Given the description of an element on the screen output the (x, y) to click on. 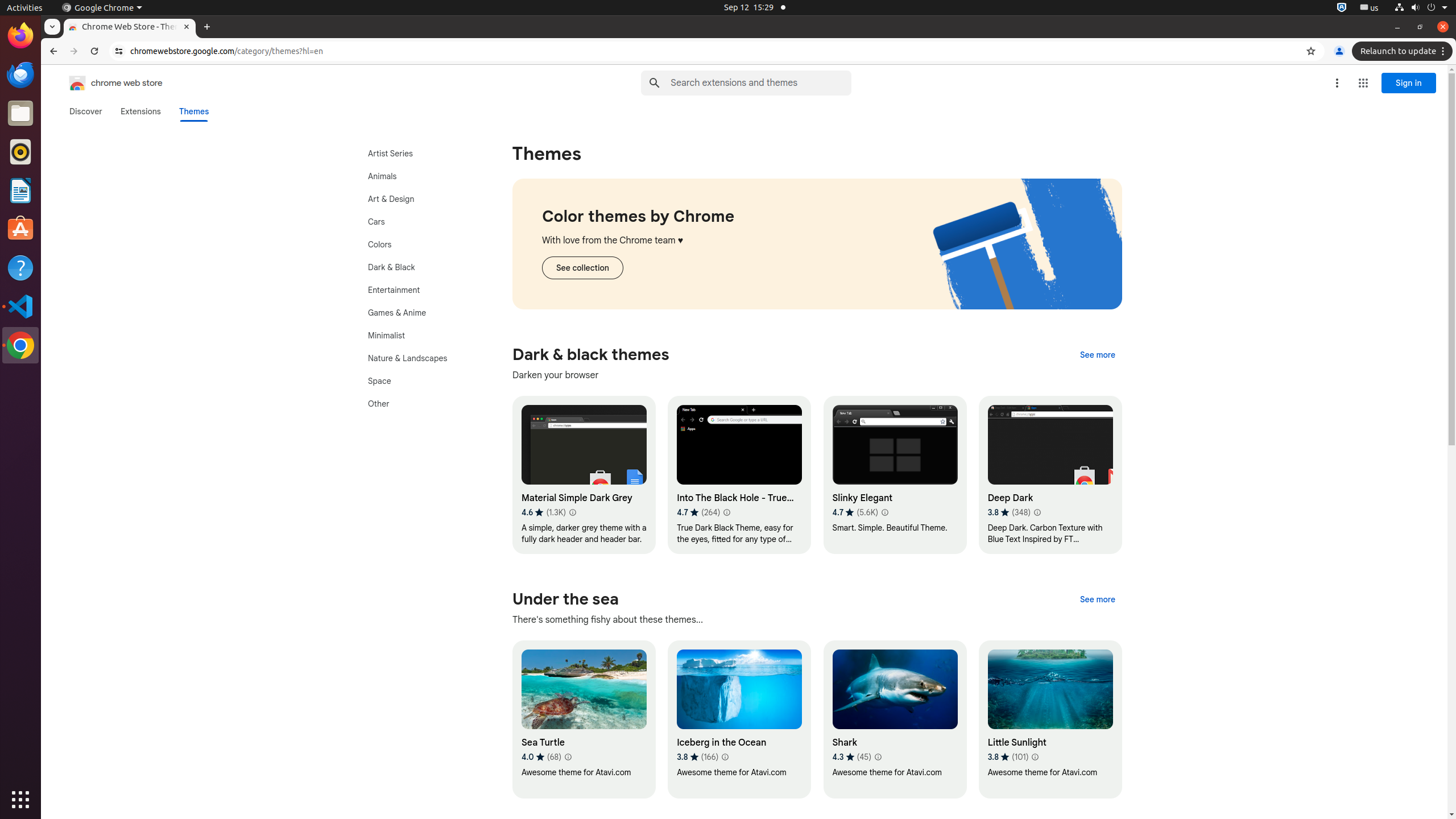
Learn more about results and reviews "Little Sunlight" Element type: push-button (1034, 756)
Search input Element type: combo-box (760, 82)
Games & Anime Element type: menu-item (419, 312)
Colors Element type: menu-item (419, 244)
Rhythmbox Element type: push-button (20, 151)
